Given the description of an element on the screen output the (x, y) to click on. 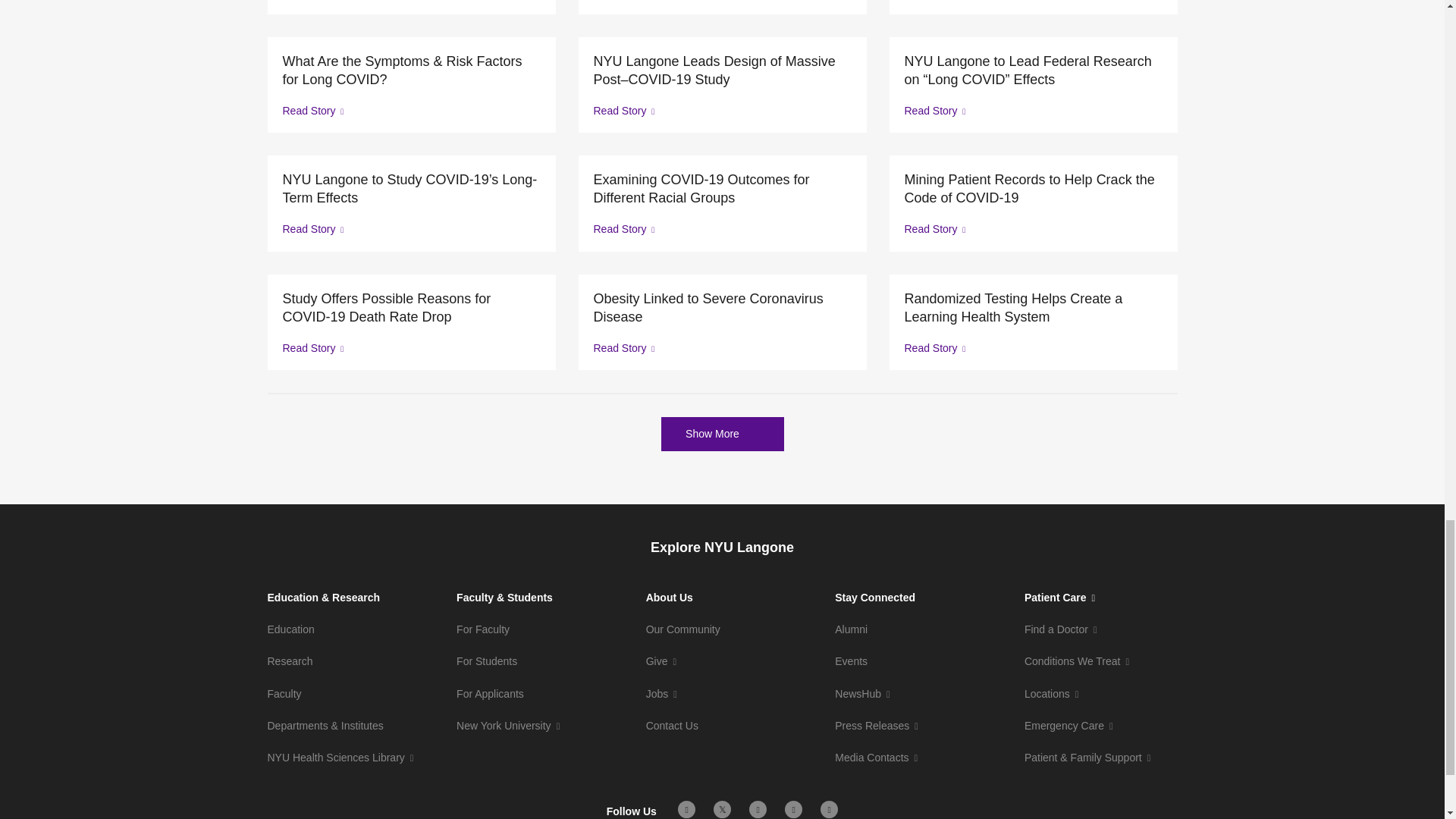
Randomized Testing Helps Create a Learning Health System (1032, 307)
Obesity Linked to Severe Coronavirus Disease (721, 307)
Study Offers Possible Reasons for COVID-19 Death Rate Drop (411, 307)
Examining COVID-19 Outcomes for Different Racial Groups (721, 188)
Mining Patient Records to Help Crack the Code of COVID-19 (1032, 188)
